Given the description of an element on the screen output the (x, y) to click on. 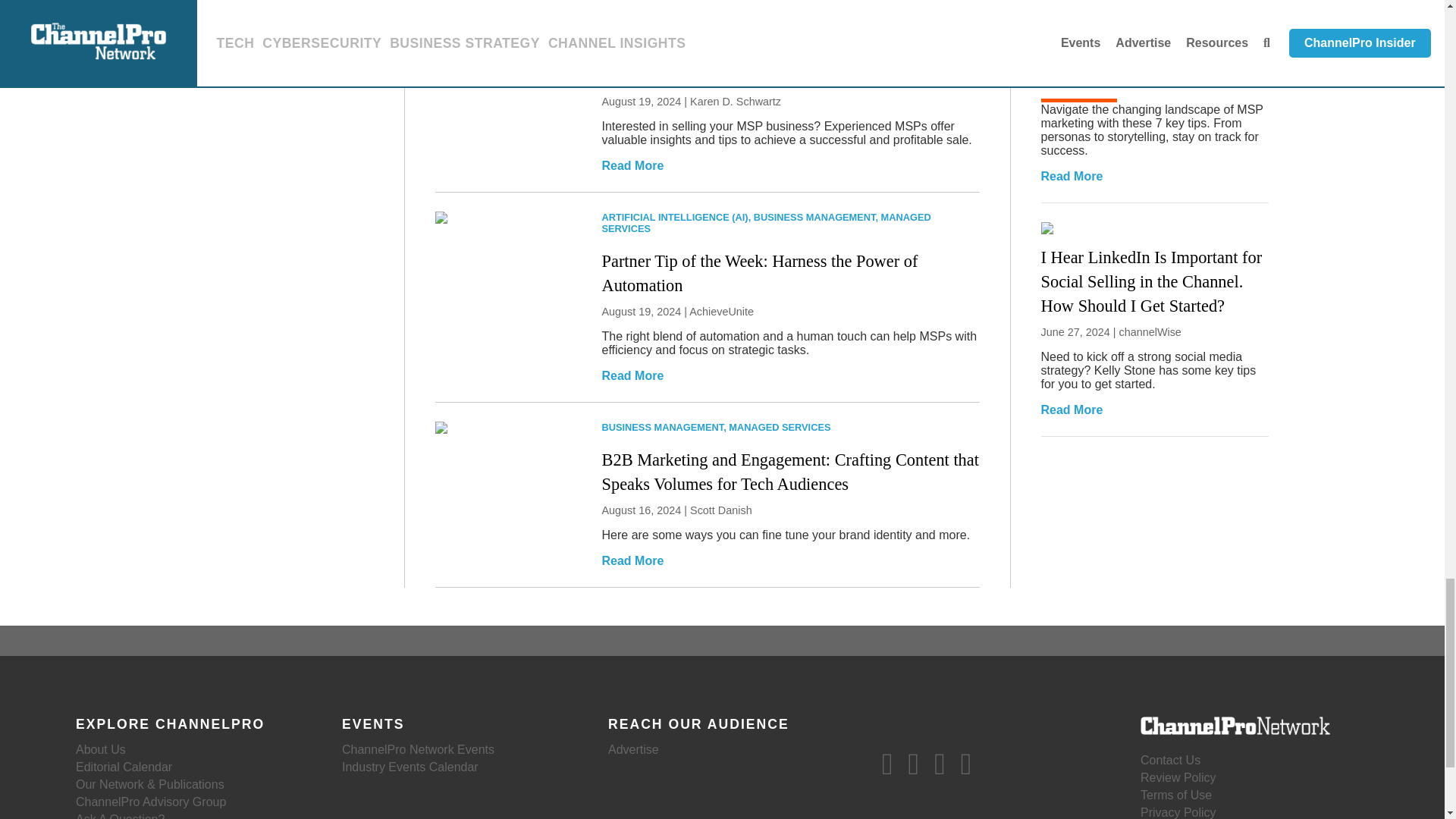
Posts by channelWise (1149, 331)
Posts by AchieveUnite (721, 311)
Posts by Karen D. Schwartz (735, 101)
